Given the description of an element on the screen output the (x, y) to click on. 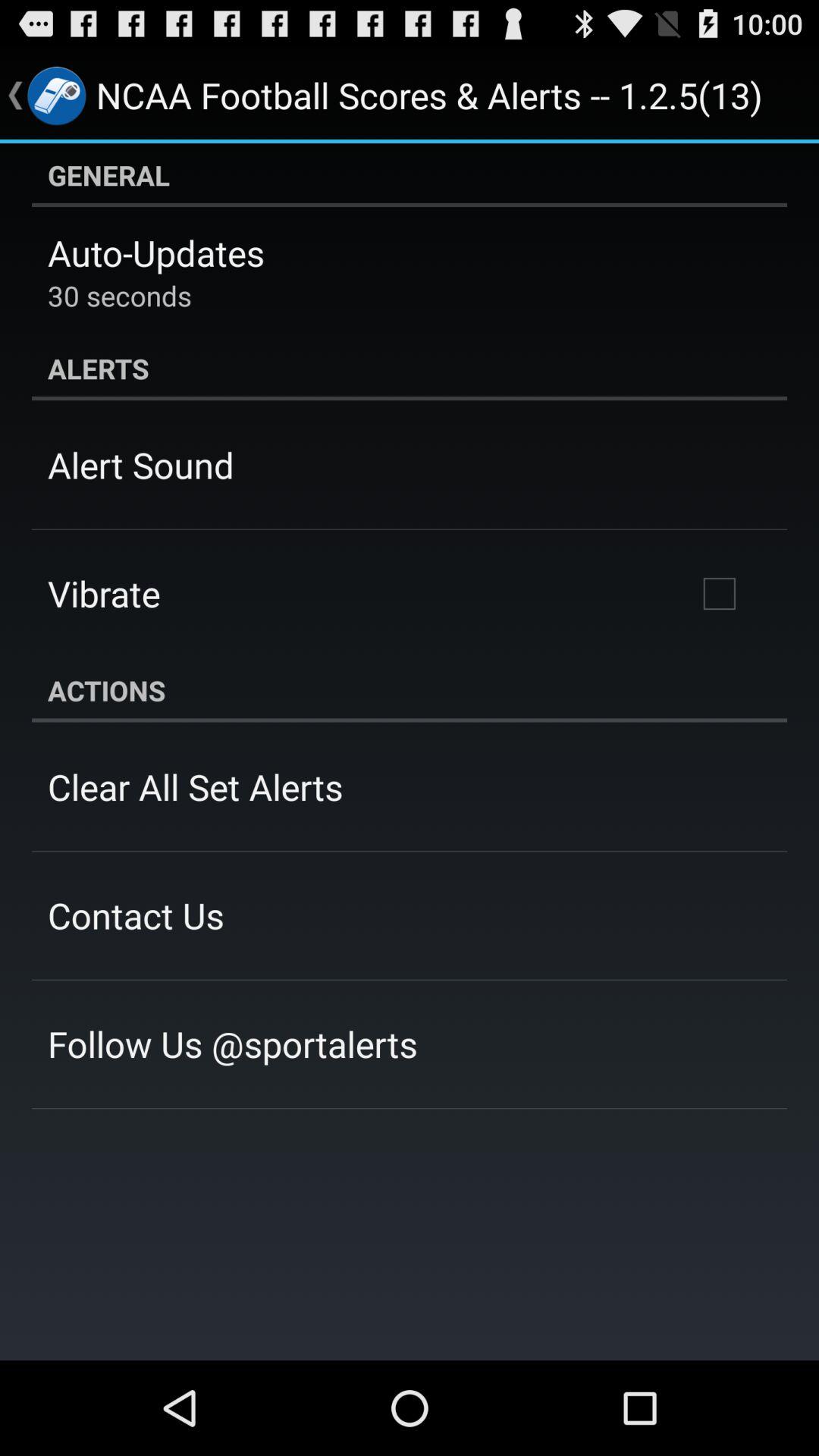
select the vibrate app (103, 593)
